Given the description of an element on the screen output the (x, y) to click on. 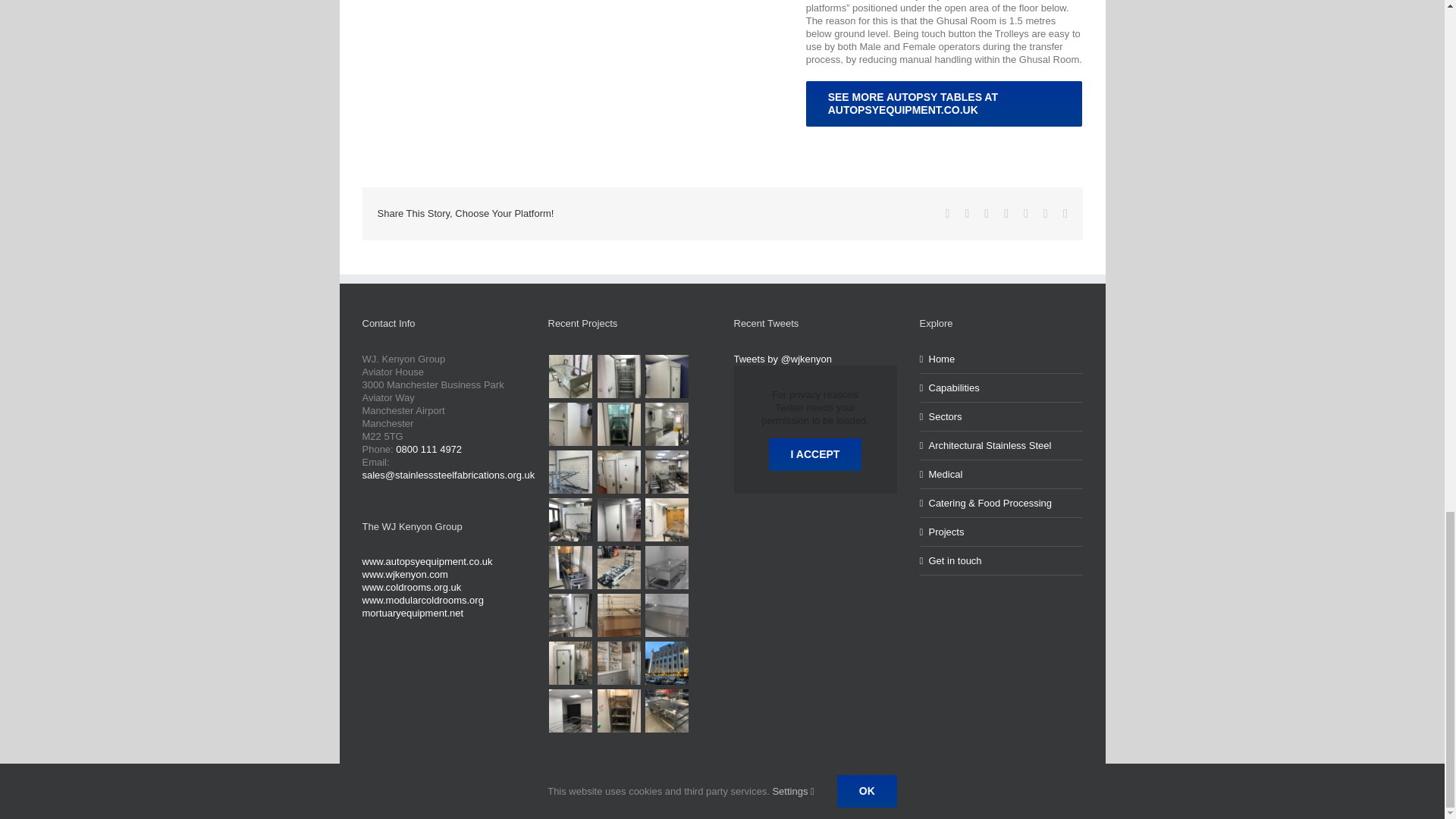
Bolton Ashrafia Mosque (569, 423)
Leicester Mosque (618, 376)
Hounslow Central Mosque (569, 376)
Birmingham Aston Mosque (667, 376)
